Given the description of an element on the screen output the (x, y) to click on. 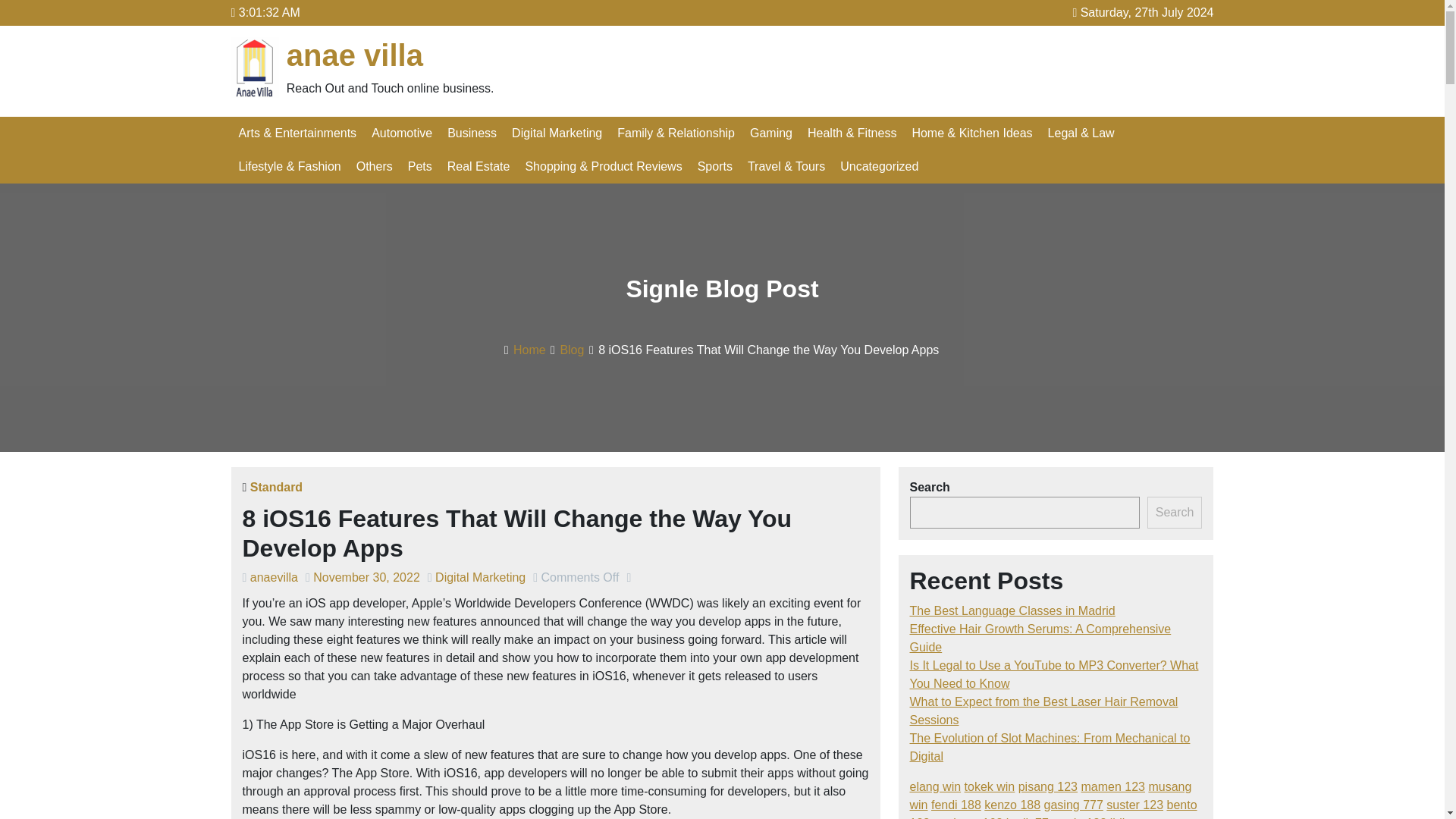
anae villa (354, 55)
Pets (419, 166)
Effective Hair Growth Serums: A Comprehensive Guide (1041, 637)
Uncategorized (879, 166)
musang win (1051, 795)
fendi 188 (956, 804)
The Best Language Classes in Madrid (1012, 610)
Home (529, 349)
anaevilla (274, 576)
Real Estate (478, 166)
elang win (935, 786)
Search (1174, 512)
mamen 123 (1112, 786)
kenzo 188 (1012, 804)
Gaming (770, 133)
